Given the description of an element on the screen output the (x, y) to click on. 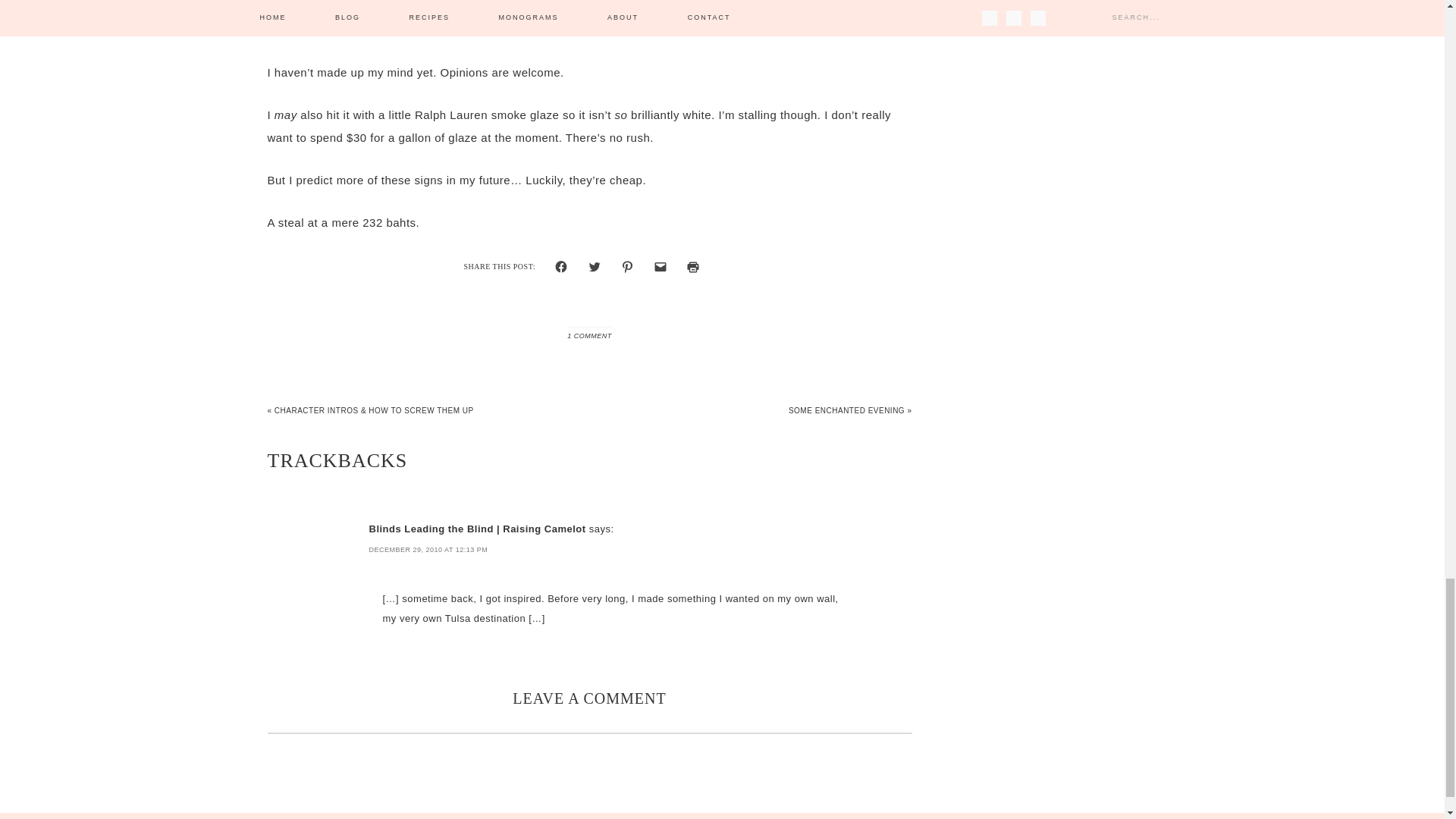
Click to share on Pinterest (627, 266)
Click to share on Facebook (561, 266)
Click to print (692, 266)
DSCF0812 (589, 20)
1 COMMENT (589, 335)
DECEMBER 29, 2010 AT 12:13 PM (427, 549)
Click to email a link to a friend (660, 266)
Click to share on Twitter (594, 266)
